Given the description of an element on the screen output the (x, y) to click on. 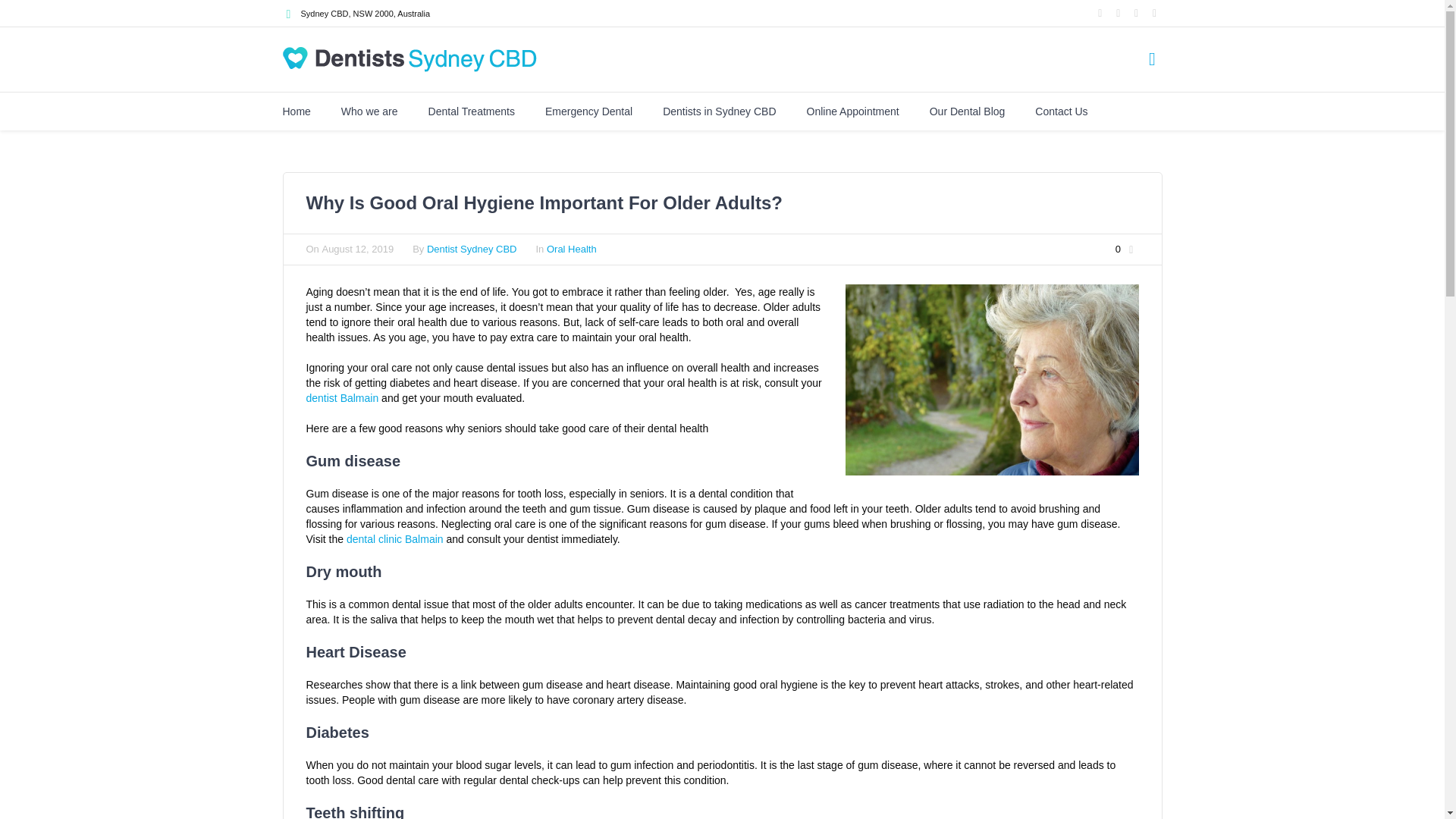
Emergency Dental (587, 111)
Facebook (1099, 13)
Dentist Sydney CBD (471, 248)
Pinterest (1155, 13)
0 (1126, 249)
Good Oral Hygiene For Older Adults (991, 379)
Sydney CBD, NSW 2000, Australia (364, 13)
Dentists in Sydney CBD (719, 111)
Contact Us (1061, 111)
Twitter (1136, 13)
